Given the description of an element on the screen output the (x, y) to click on. 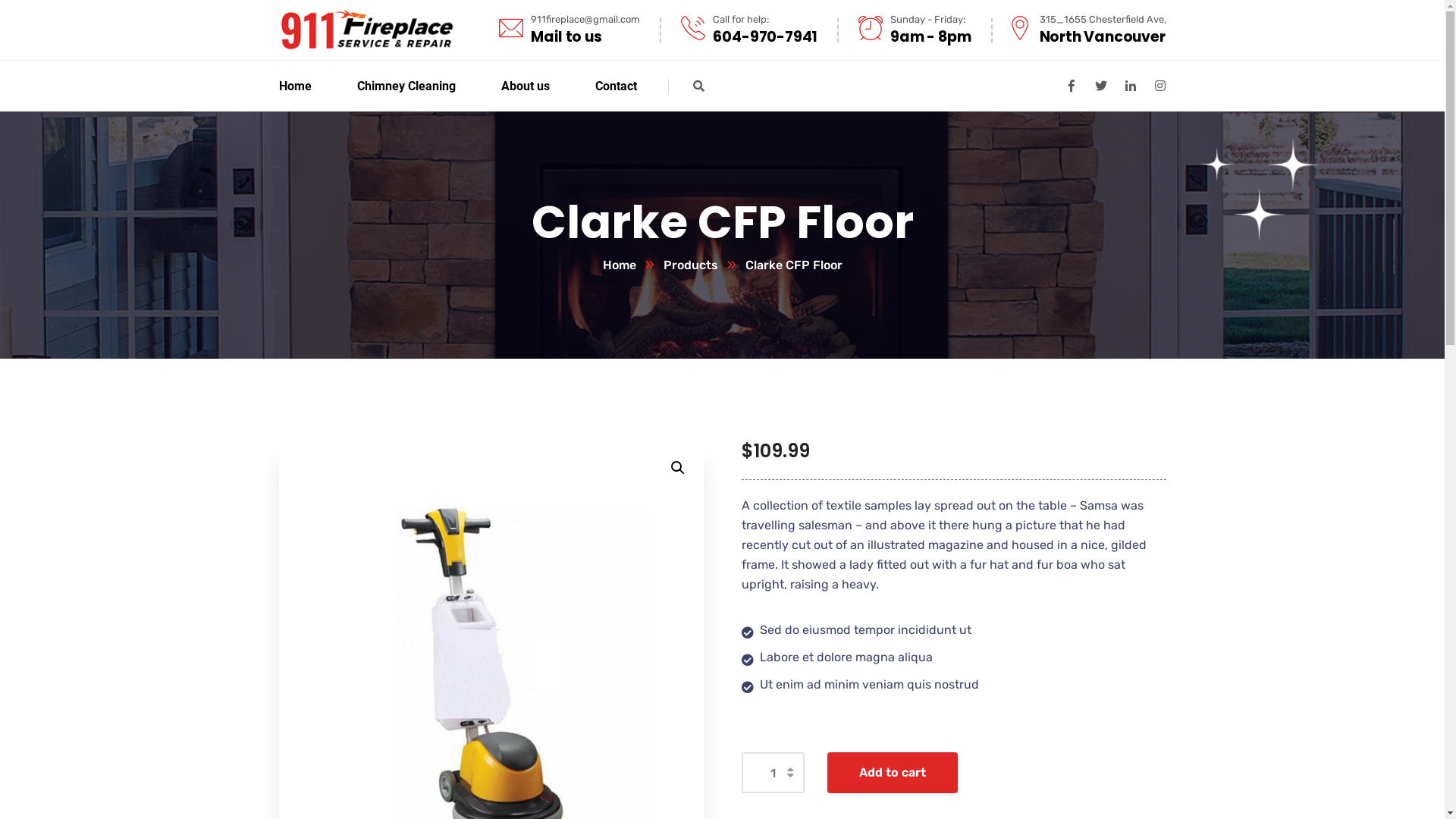
Products Element type: text (703, 264)
Home Element type: text (295, 85)
Fireplace Element type: hover (367, 28)
Qty Element type: hover (772, 772)
Contact Element type: text (615, 85)
Home Element type: text (632, 264)
About us Element type: text (524, 85)
Chimney Cleaning Element type: text (405, 85)
Add to cart Element type: text (891, 772)
